Given the description of an element on the screen output the (x, y) to click on. 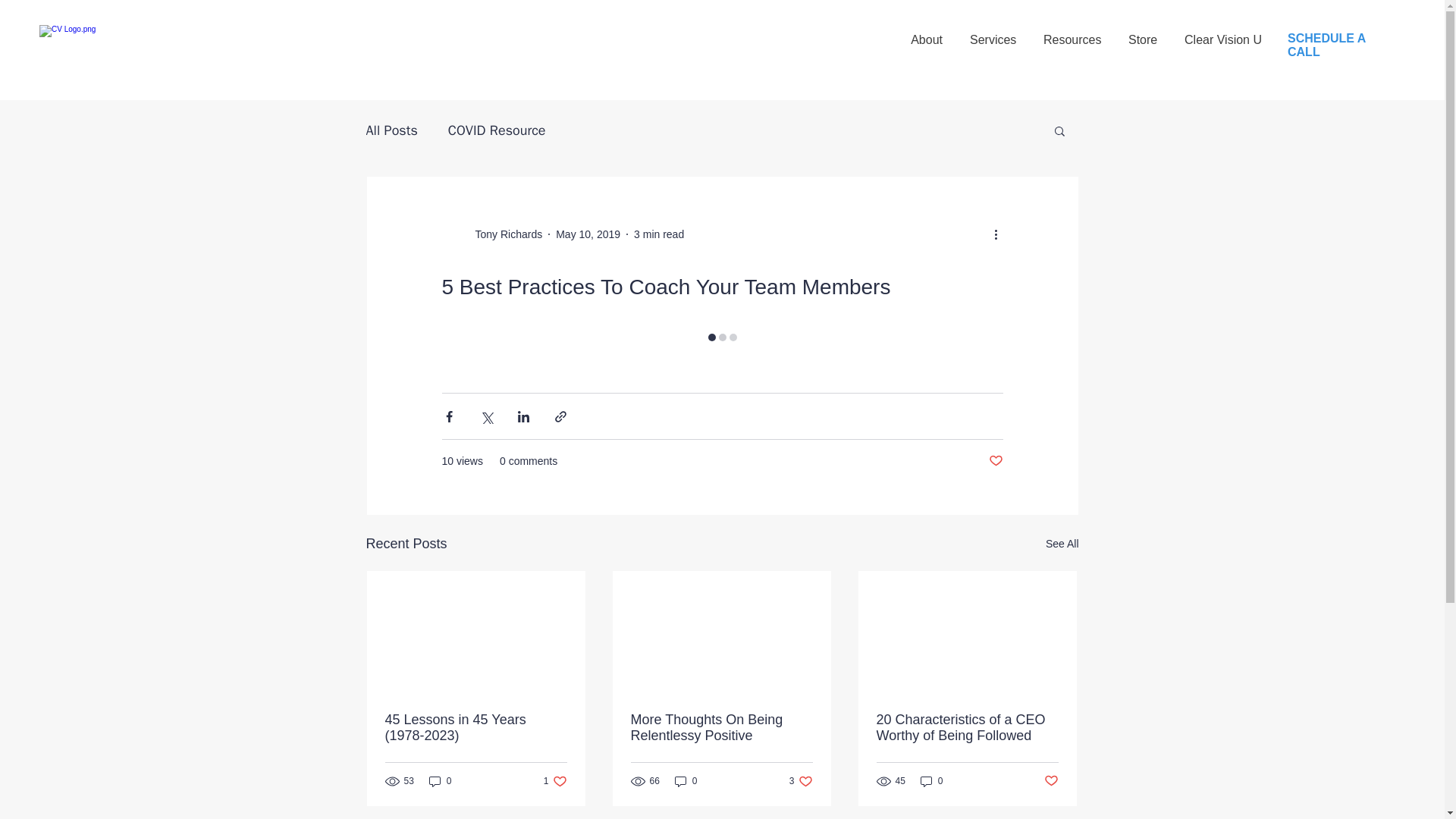
Resources (1072, 32)
Post not marked as liked (995, 461)
SCHEDULE A CALL (1326, 44)
About (926, 32)
0 (685, 780)
Store (800, 780)
20 Characteristics of a CEO Worthy of Being Followed (1142, 32)
Post not marked as liked (967, 727)
Tony Richards (1050, 781)
See All (503, 233)
3 min read (1061, 544)
More Thoughts On Being Relentlessy Positive (658, 233)
Clear Vision U (721, 727)
May 10, 2019 (1222, 32)
